Given the description of an element on the screen output the (x, y) to click on. 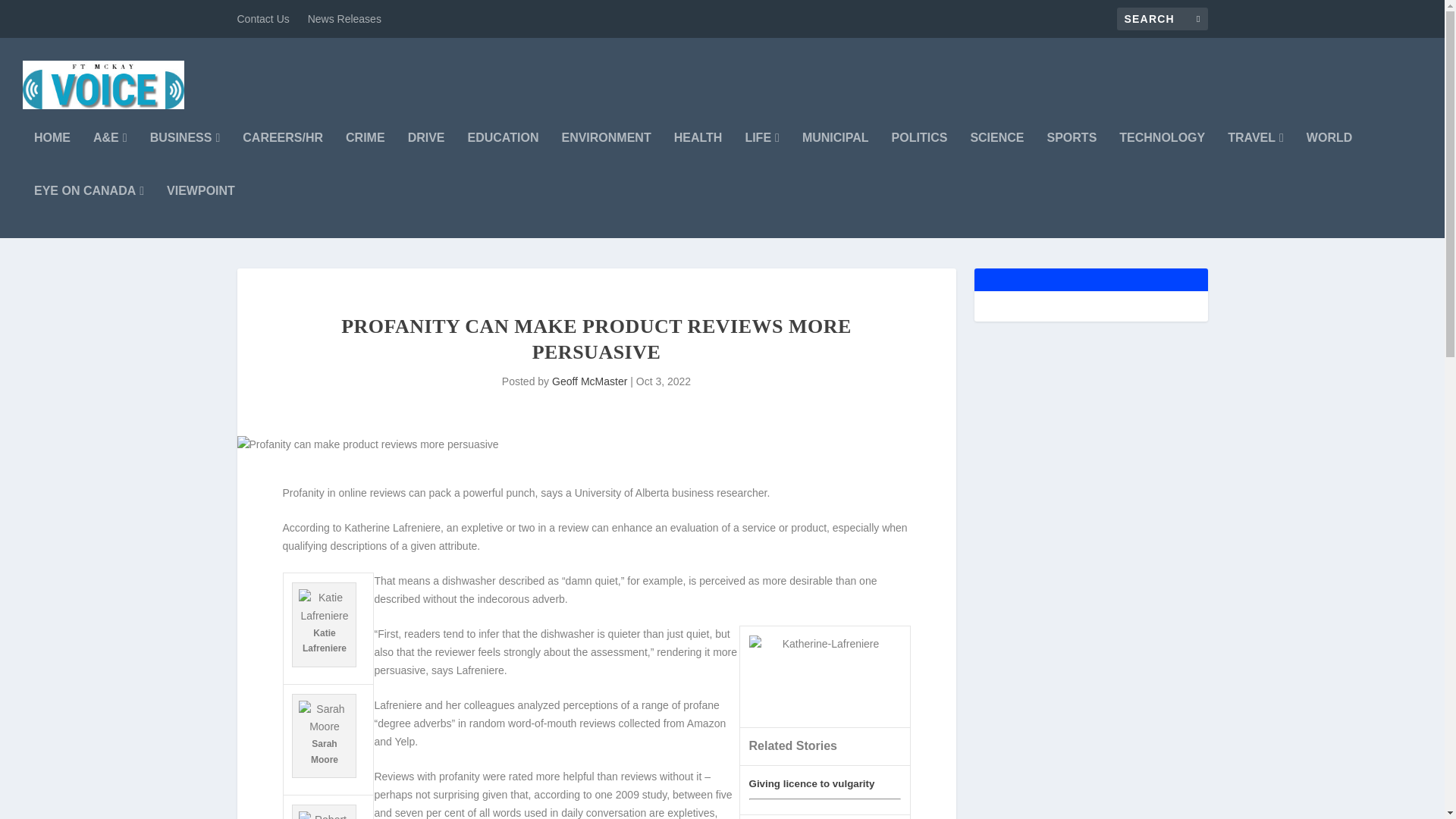
SPORTS (1071, 158)
TRAVEL (1255, 158)
POLITICS (919, 158)
HEALTH (698, 158)
EYE ON CANADA (88, 211)
Search for: (1161, 18)
TECHNOLOGY (1162, 158)
ENVIRONMENT (605, 158)
EDUCATION (502, 158)
Posts by Geoff McMaster (589, 381)
BUSINESS (185, 158)
News Releases (344, 18)
Contact Us (261, 18)
SCIENCE (996, 158)
MUNICIPAL (835, 158)
